Given the description of an element on the screen output the (x, y) to click on. 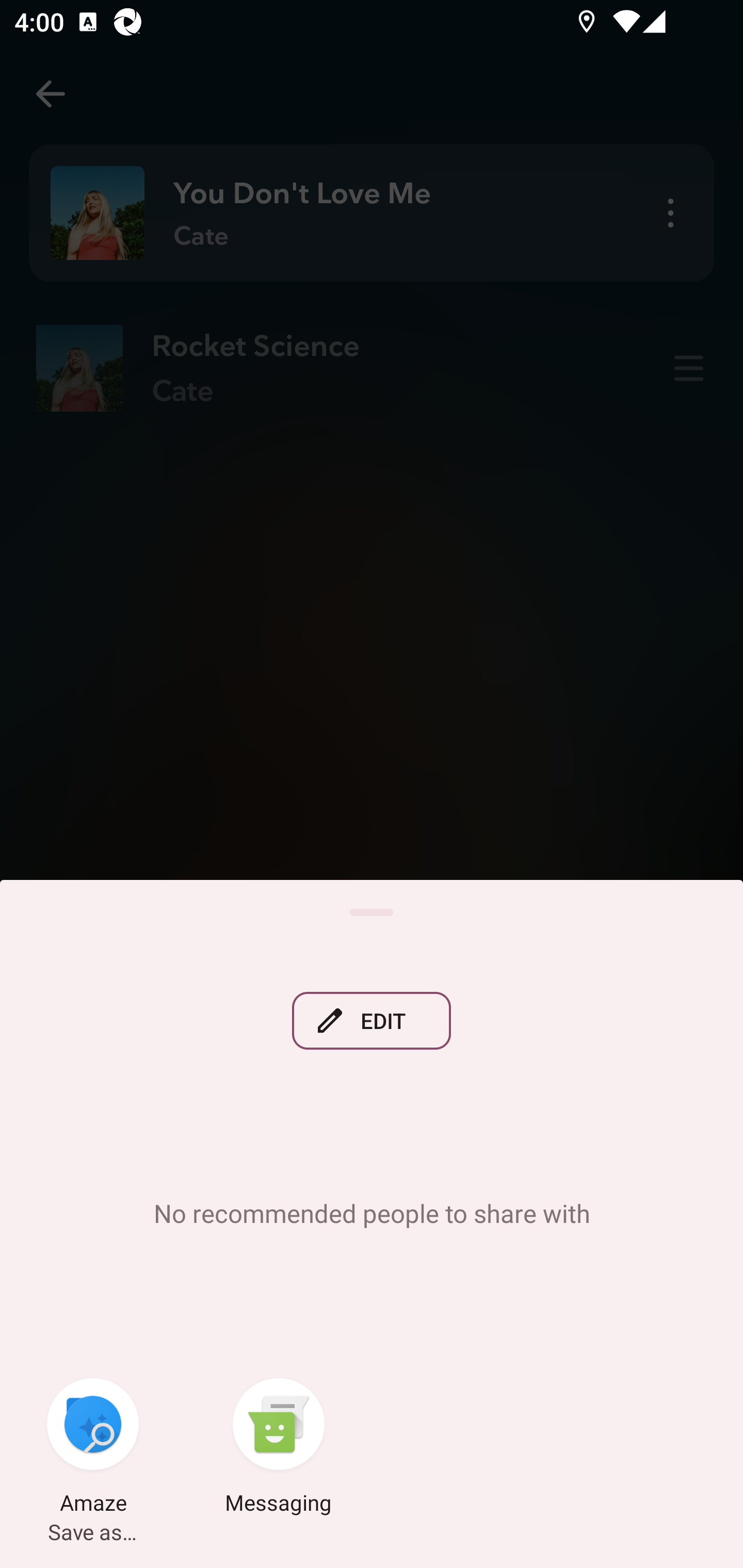
EDIT (371, 1020)
Amaze Save as… (92, 1448)
Messaging (278, 1448)
